Given the description of an element on the screen output the (x, y) to click on. 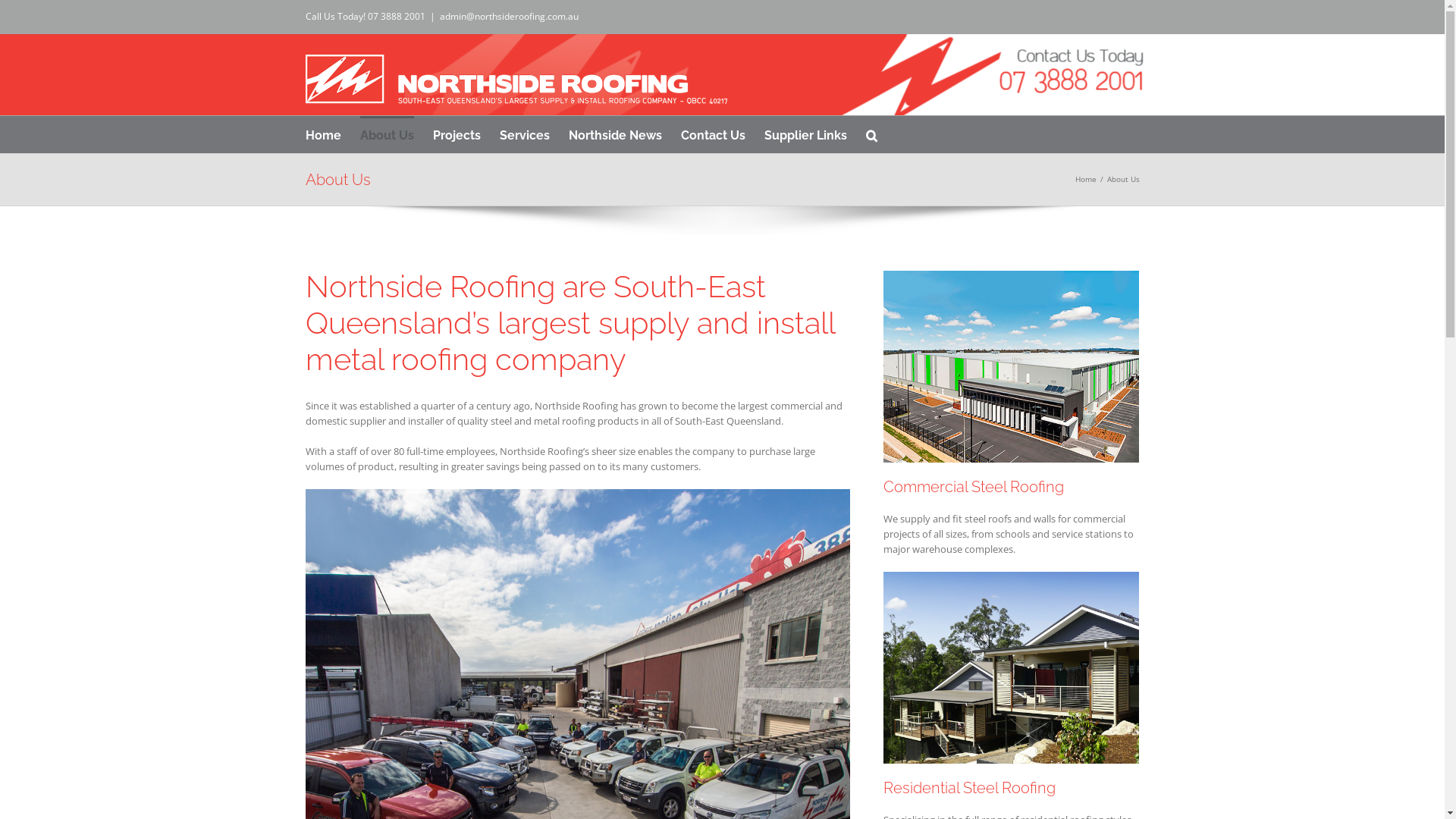
Home Element type: text (1085, 178)
Projects Element type: text (456, 134)
Northside News Element type: text (615, 134)
About Us Element type: text (386, 134)
07 3888 2001 Element type: text (395, 15)
Search Element type: hover (871, 134)
Services Element type: text (523, 134)
Contact Us Element type: text (712, 134)
Supplier Links Element type: text (805, 134)
admin@northsideroofing.com.au Element type: text (508, 15)
Home Element type: text (322, 134)
Residential_07 Element type: hover (1011, 667)
DB-Schenker_08 Element type: hover (1011, 366)
